Given the description of an element on the screen output the (x, y) to click on. 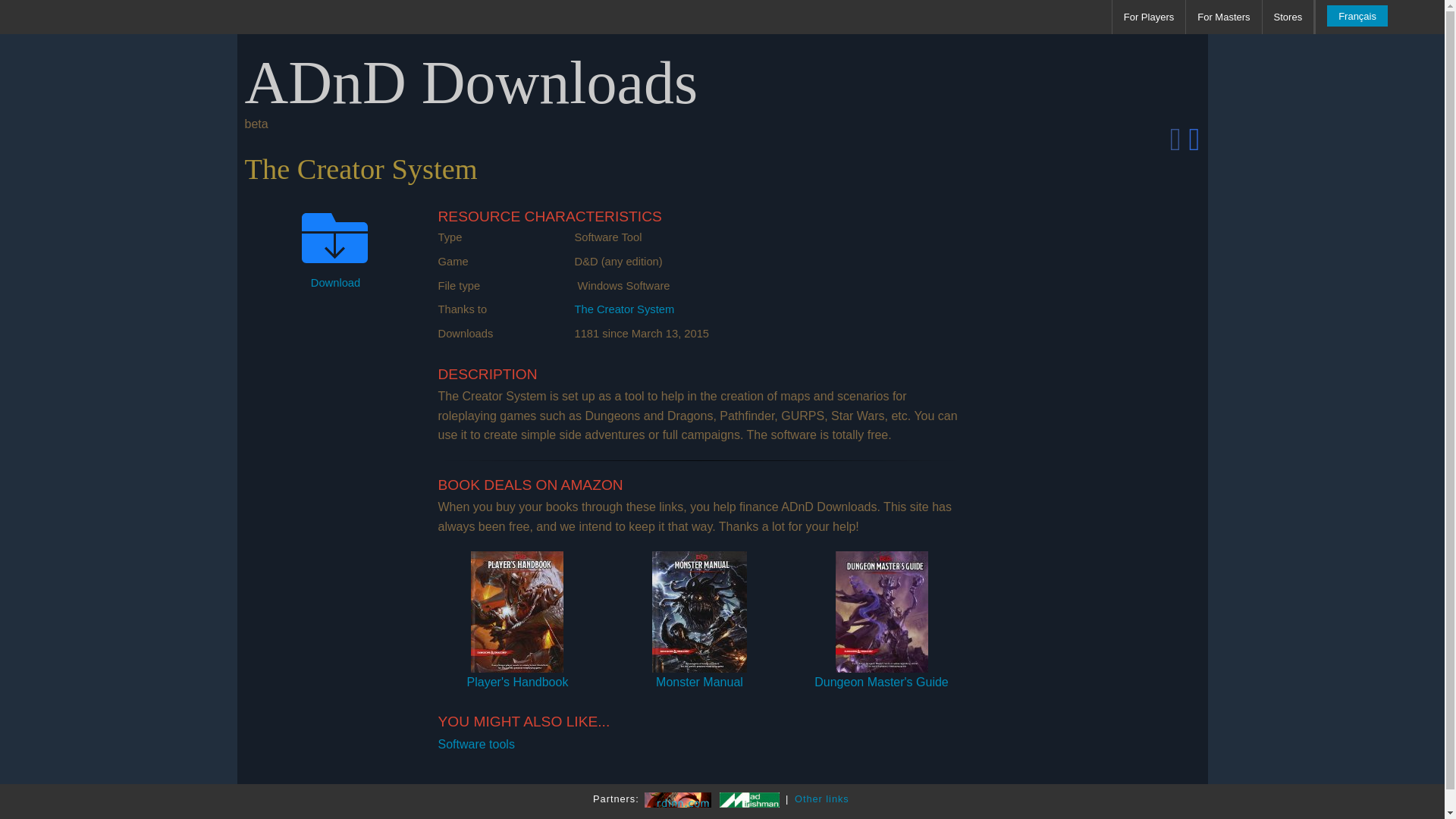
Character Classes (1148, 50)
Adventures (1223, 50)
Ravenloft Resources (1223, 221)
Monsters (1223, 153)
Equipment (1148, 153)
Stores (1288, 17)
Forgotten Realms Resources (1223, 84)
Character Generators (1148, 119)
The Creator System (625, 309)
Spells (1148, 255)
Miscellaneous Resources (1148, 221)
Character Sheets (1148, 84)
Pathfinder (1288, 84)
